Given the description of an element on the screen output the (x, y) to click on. 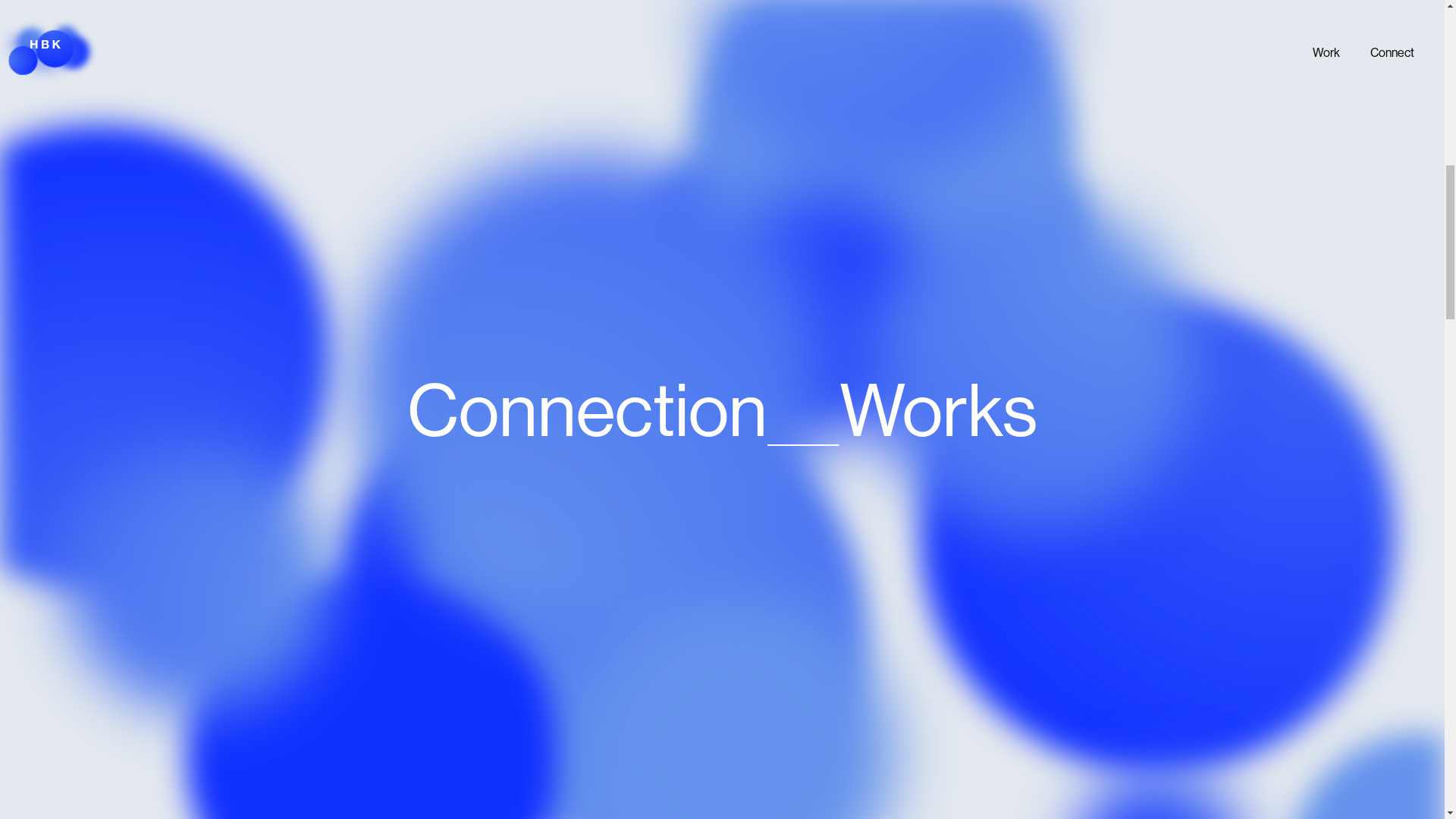
Connect Element type: text (1392, 51)
Work Element type: text (1325, 51)
